Given the description of an element on the screen output the (x, y) to click on. 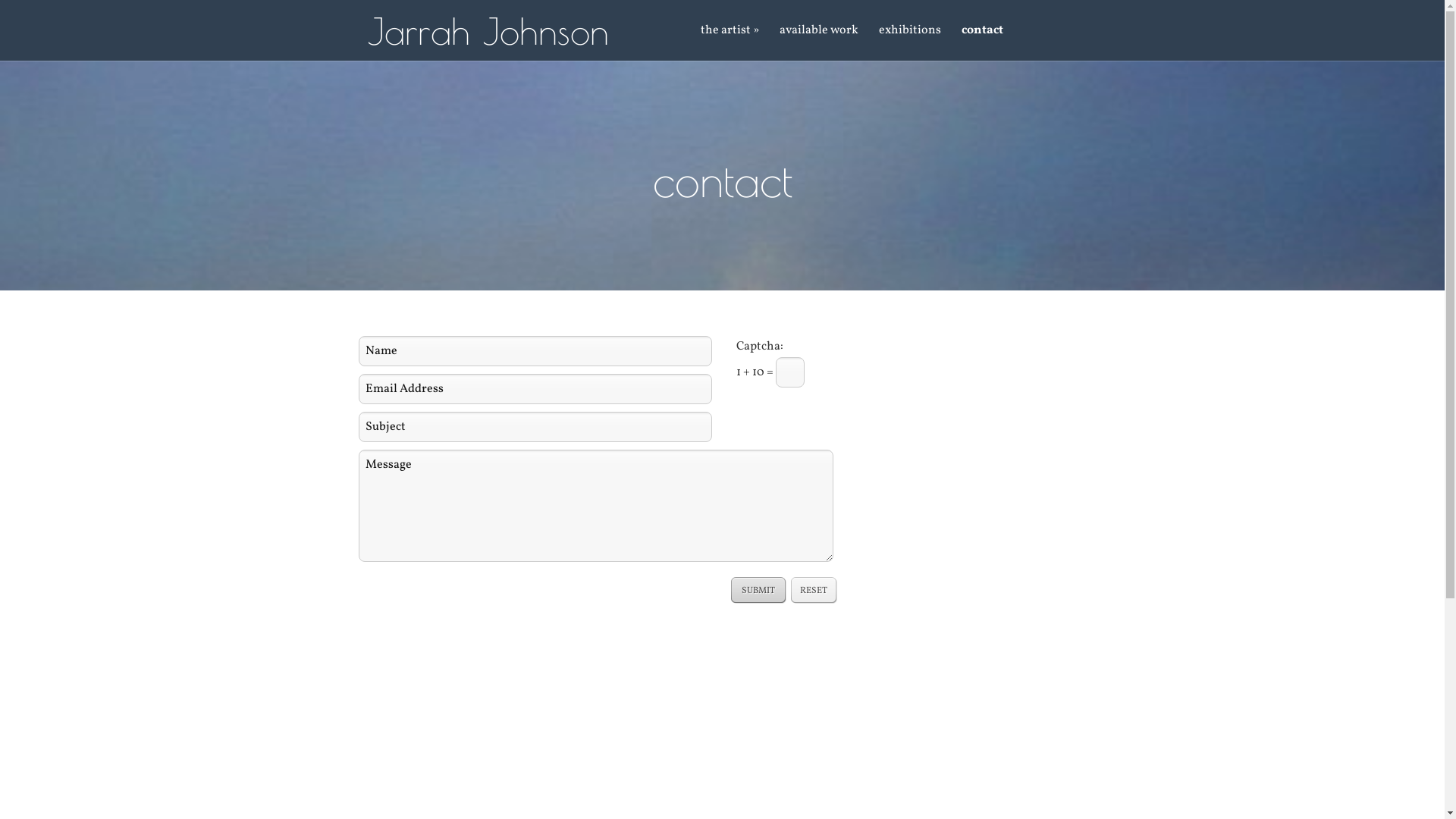
available work Element type: text (818, 42)
exhibitions Element type: text (909, 42)
contact Element type: text (982, 42)
Submit Element type: text (758, 590)
Jarrah Johnson Element type: text (487, 30)
